Given the description of an element on the screen output the (x, y) to click on. 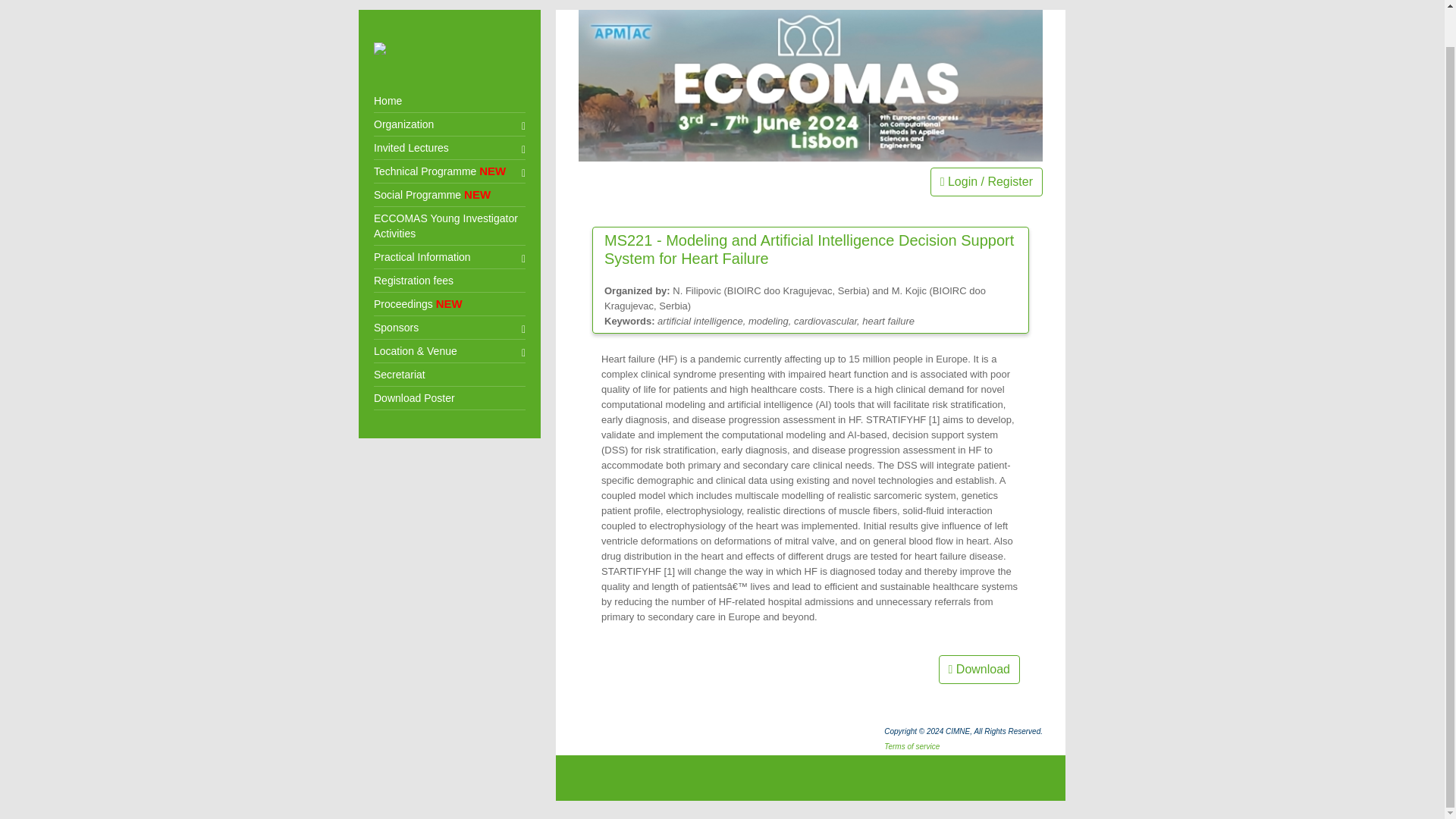
Sponsors (449, 327)
Proceedings NEW (449, 304)
Social Programme NEW (449, 195)
ECCOMAS Young Investigator Activities (449, 226)
Organization (449, 124)
Practical Information (449, 257)
Registration fees (449, 280)
Home (449, 101)
Invited Lectures (449, 147)
